Given the description of an element on the screen output the (x, y) to click on. 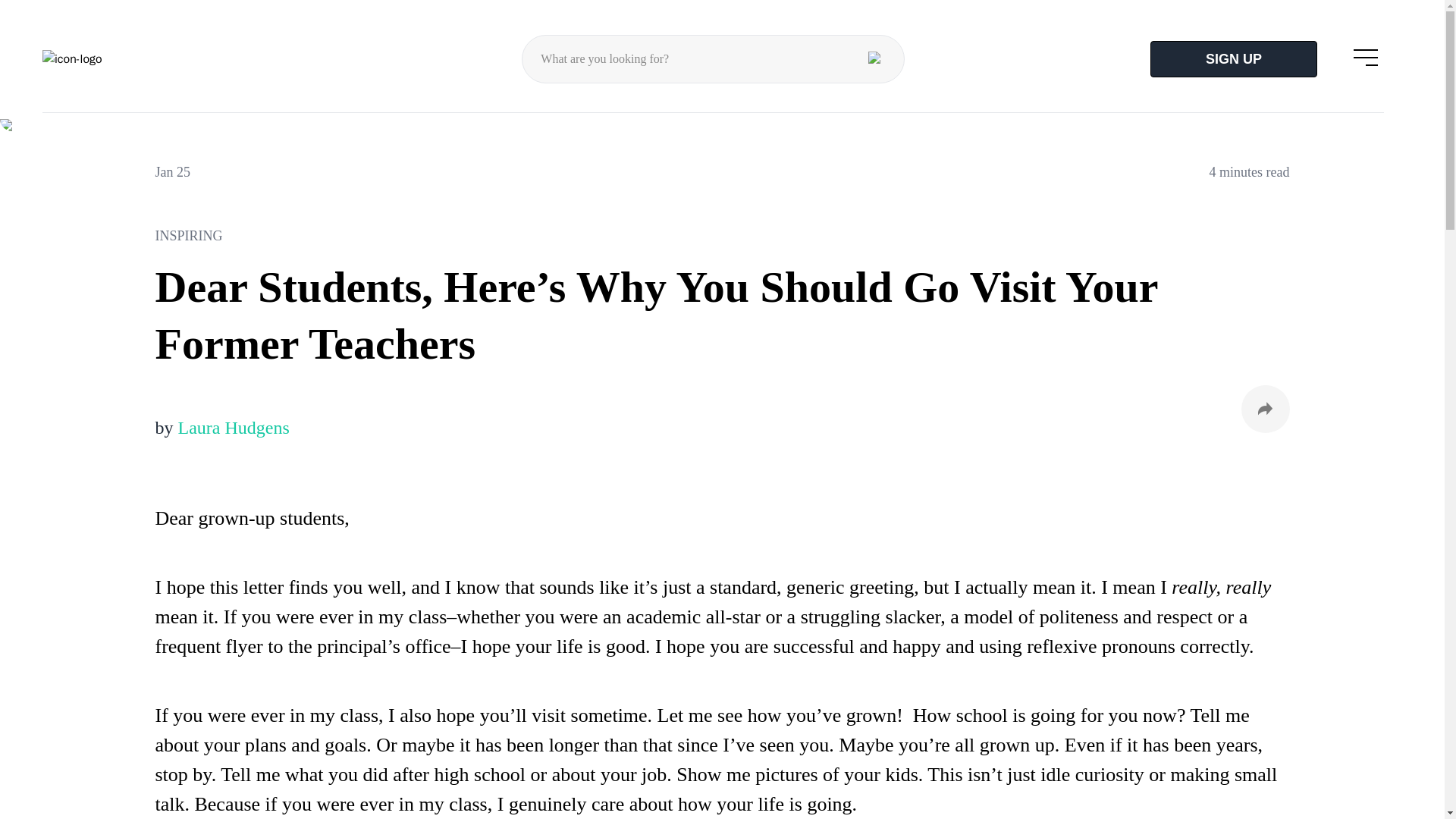
INSPIRING (56, 140)
Laura Hudgens (232, 427)
INSPIRING (721, 235)
Open main menu (1366, 55)
